Given the description of an element on the screen output the (x, y) to click on. 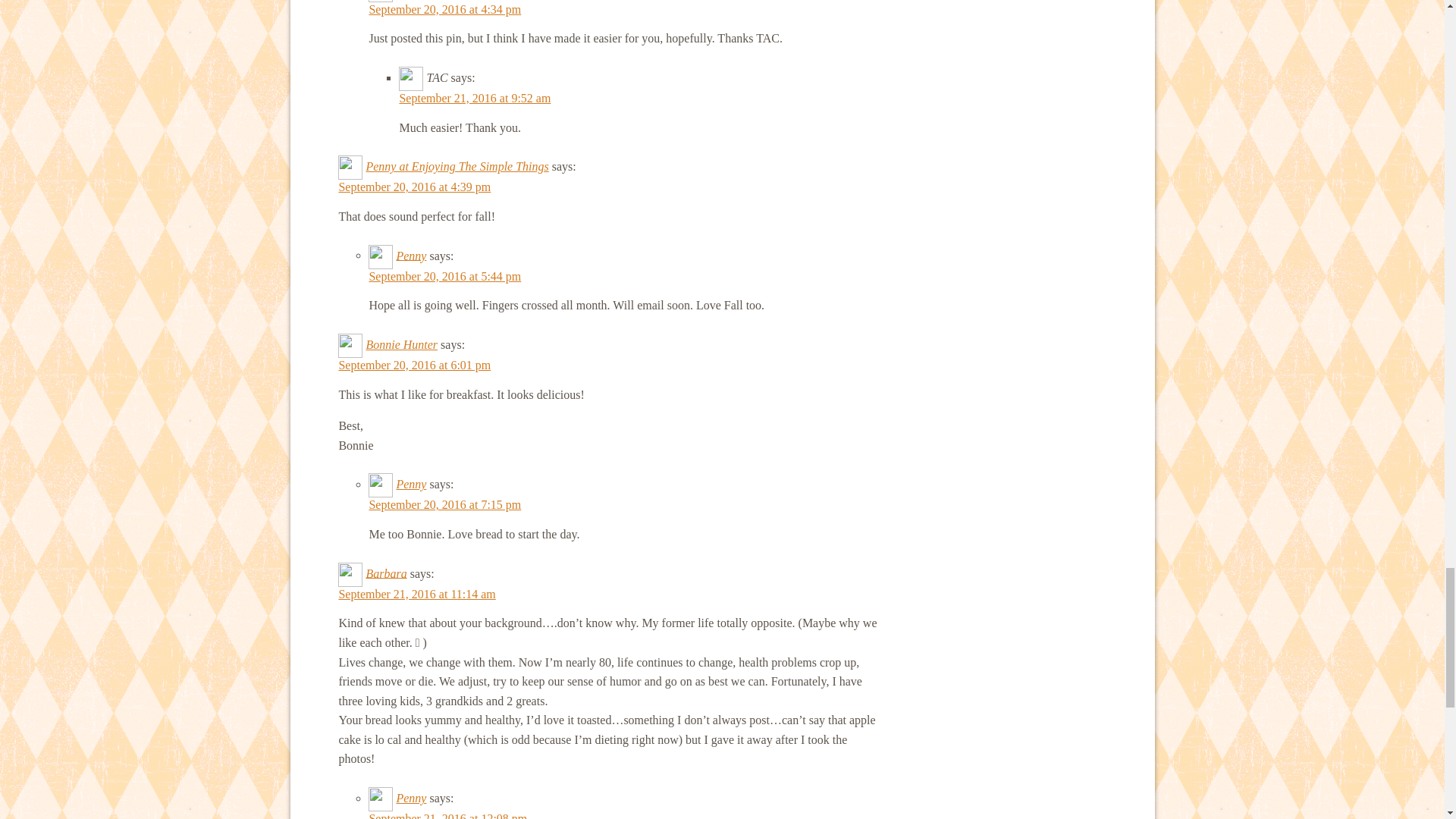
September 20, 2016 at 7:15 pm (444, 504)
September 20, 2016 at 4:39 pm (413, 186)
September 21, 2016 at 9:52 am (474, 97)
September 20, 2016 at 5:44 pm (444, 276)
September 20, 2016 at 6:01 pm (413, 364)
Penny (411, 254)
Penny at Enjoying The Simple Things (456, 165)
September 20, 2016 at 4:34 pm (444, 9)
Bonnie Hunter (401, 344)
Penny (411, 483)
